Given the description of an element on the screen output the (x, y) to click on. 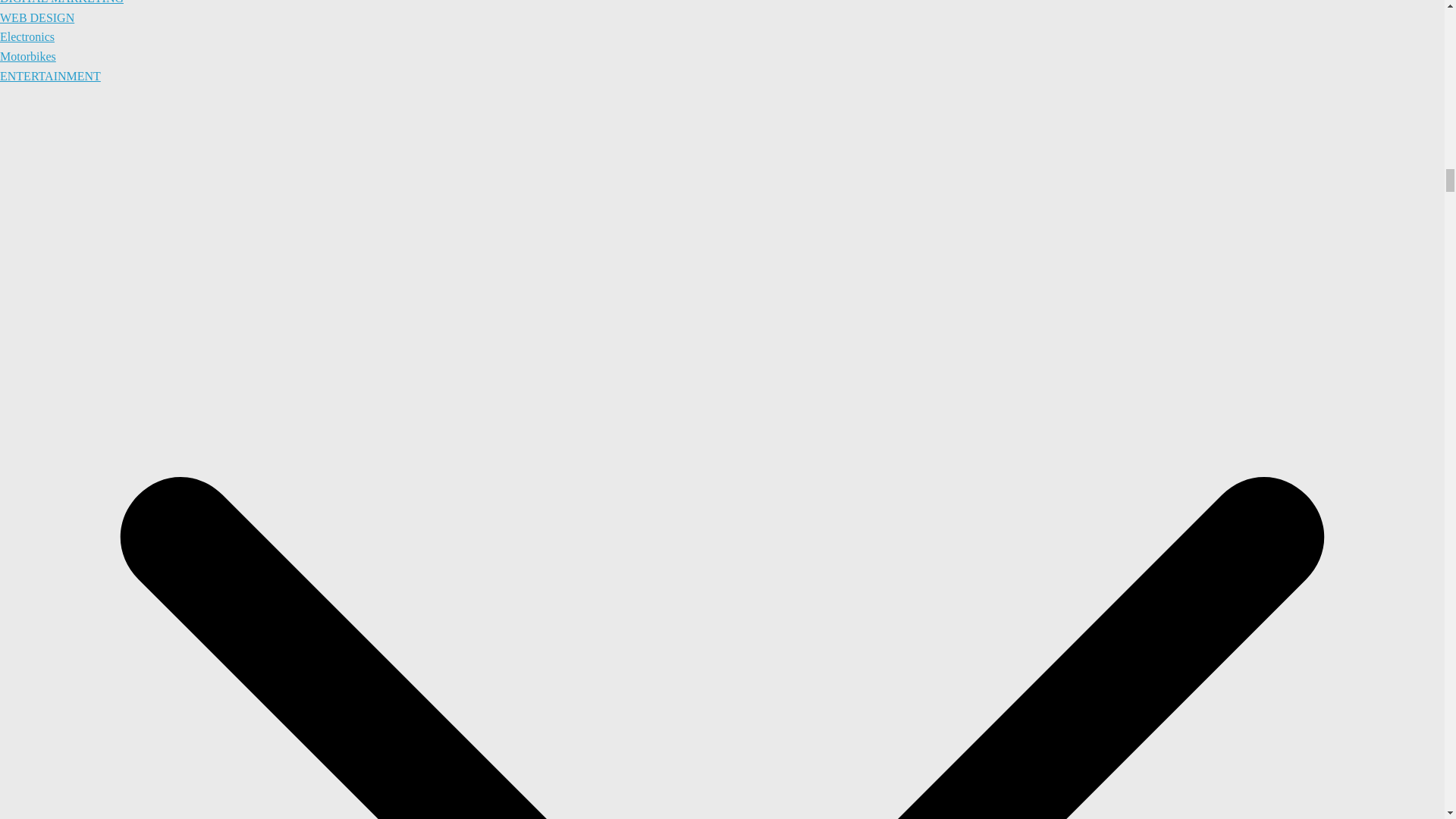
ENTERTAINMENT (50, 75)
Electronics (27, 36)
DIGITAL MARKETING (61, 2)
Motorbikes (28, 56)
WEB DESIGN (37, 17)
